Given the description of an element on the screen output the (x, y) to click on. 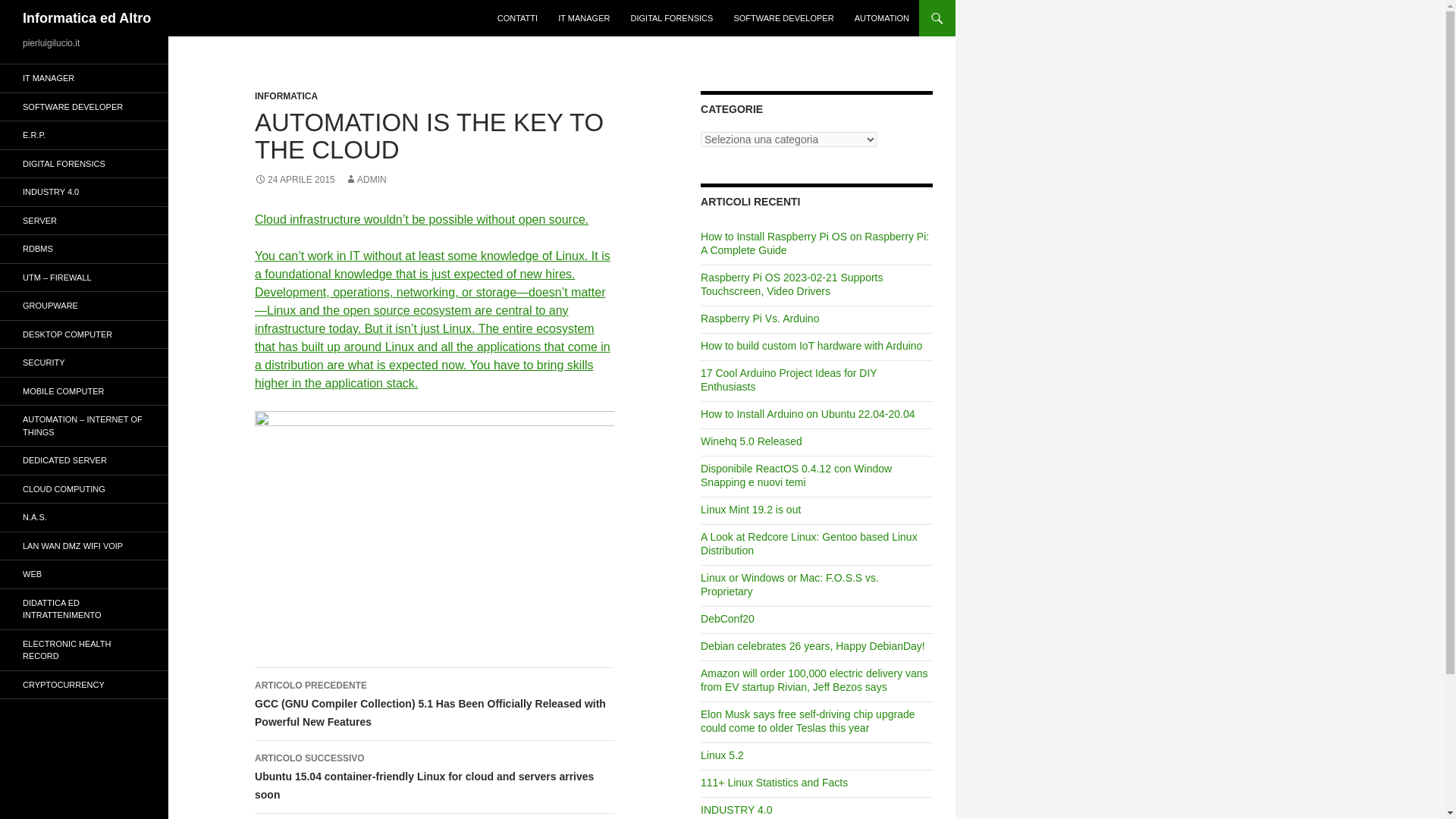
IT MANAGER (583, 18)
SOFTWARE DEVELOPER (84, 106)
DebConf20 (727, 618)
IT MANAGER (84, 78)
E.R.P. (84, 135)
INFORMATICA (285, 95)
